Given the description of an element on the screen output the (x, y) to click on. 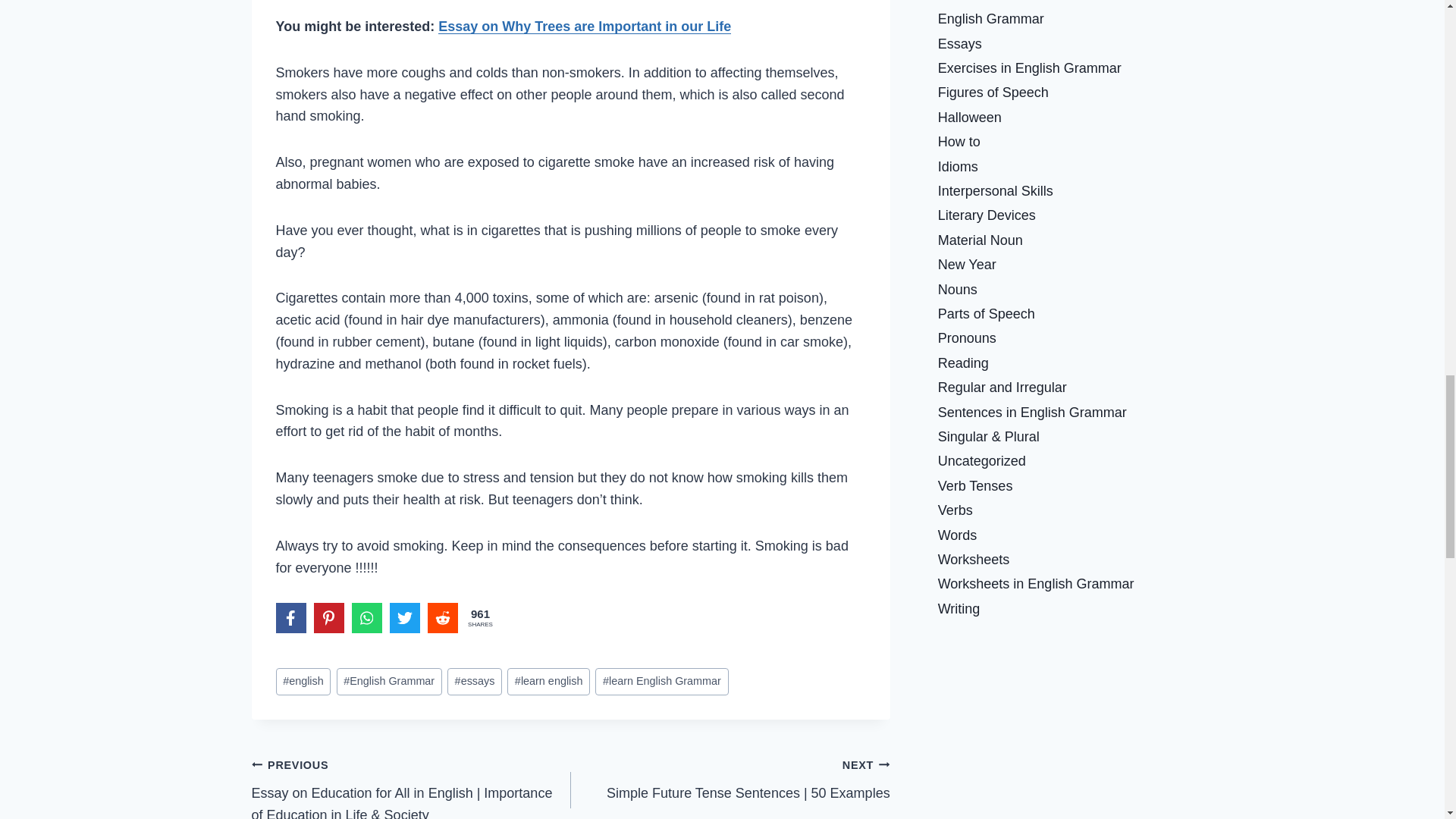
learn English Grammar (661, 682)
essays (474, 682)
learn english (547, 682)
english (303, 682)
English Grammar (389, 682)
